Given the description of an element on the screen output the (x, y) to click on. 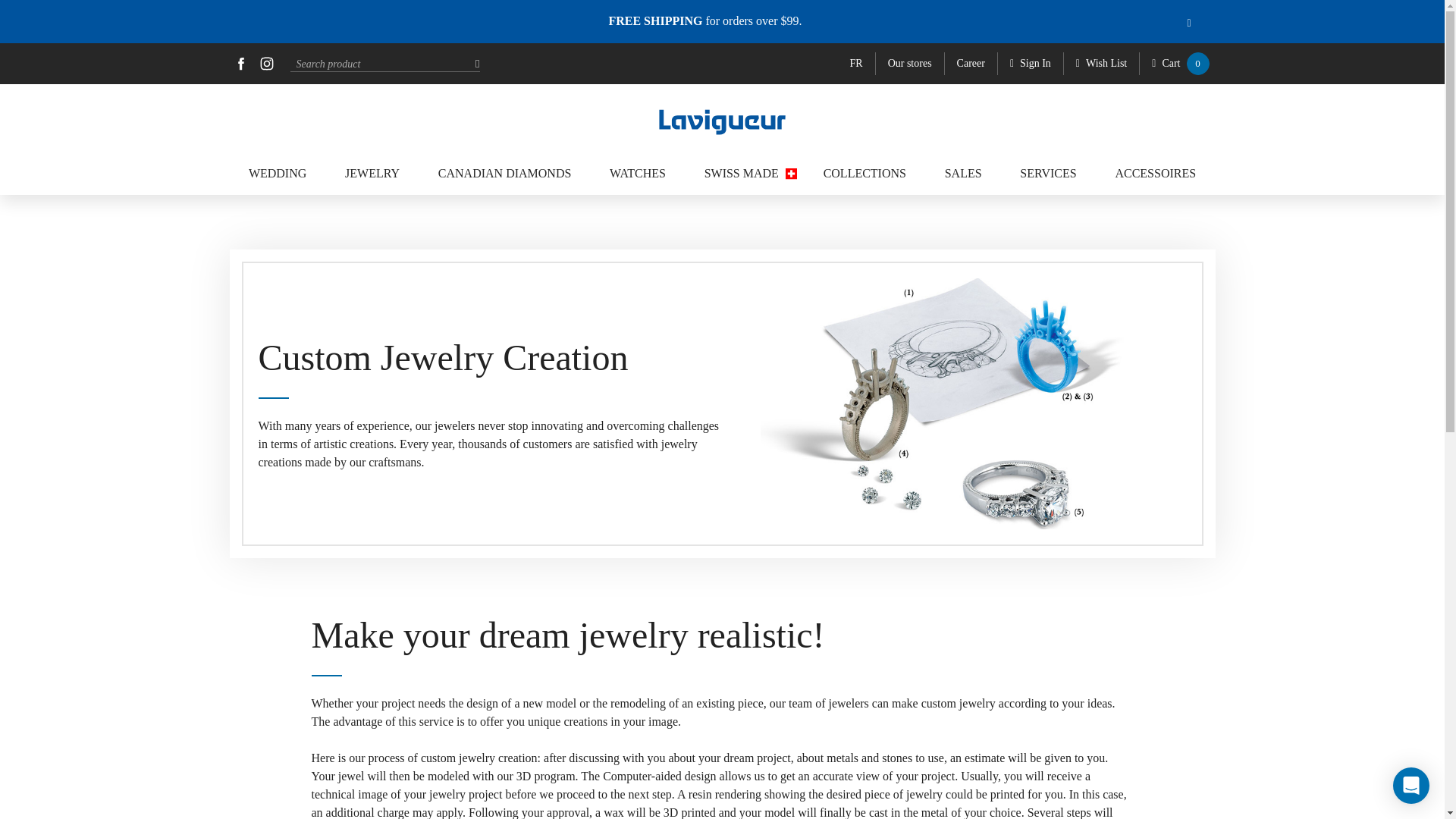
WATCHES (637, 173)
SWISS MADE (744, 173)
WEDDING (276, 173)
JEWELRY (372, 173)
CANADIAN DIAMONDS (504, 173)
